Given the description of an element on the screen output the (x, y) to click on. 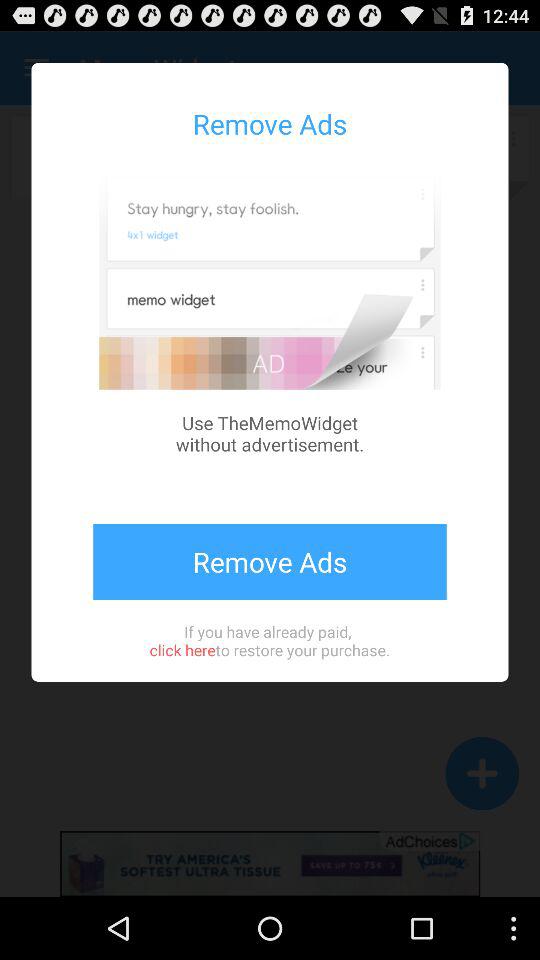
tap icon below remove ads (269, 640)
